Given the description of an element on the screen output the (x, y) to click on. 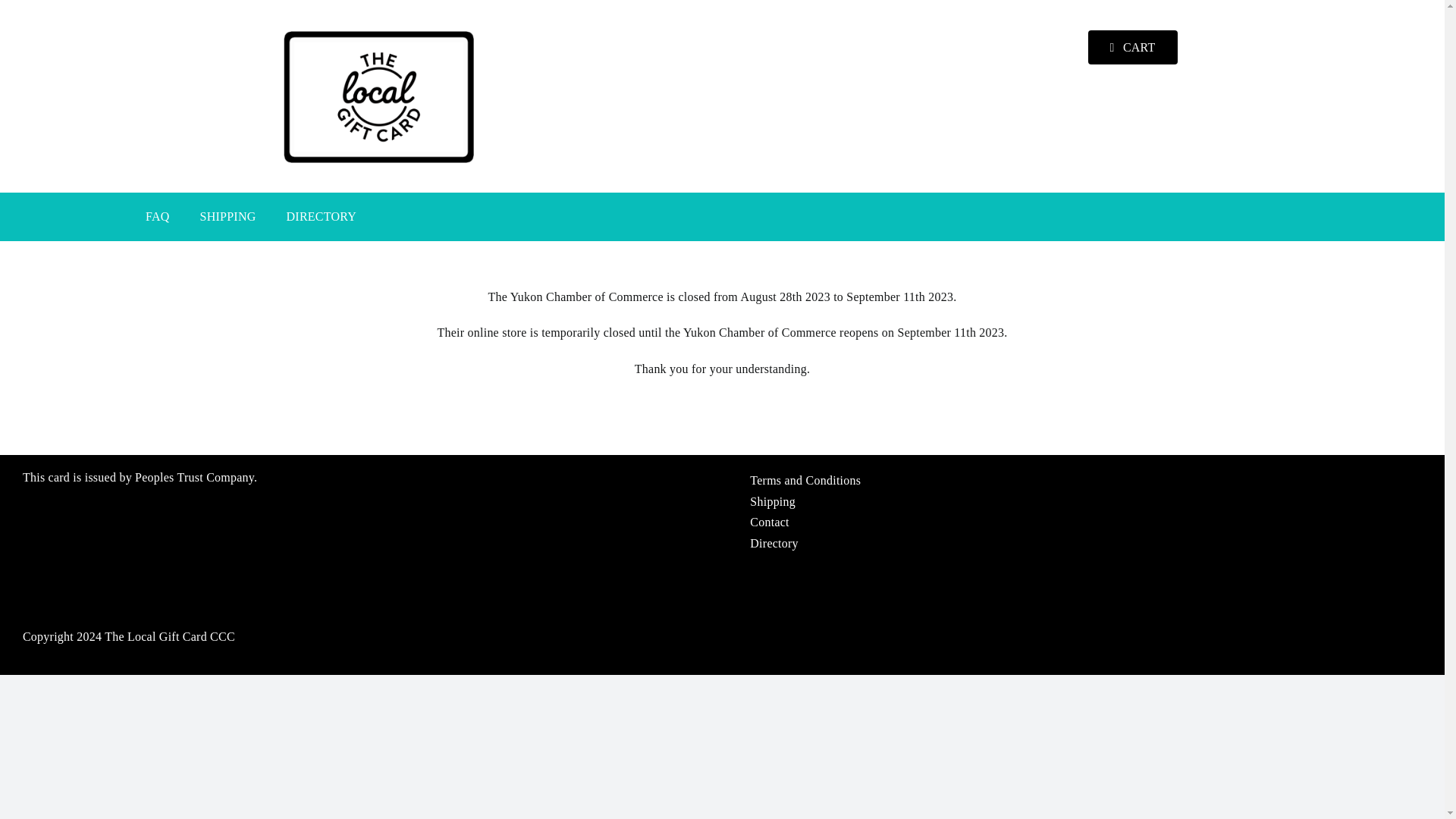
DIRECTORY (321, 216)
Directory (1085, 543)
Shipping (1085, 501)
CART (1132, 47)
Contact (1085, 522)
Terms and Conditions (1085, 480)
SHIPPING (228, 216)
